Given the description of an element on the screen output the (x, y) to click on. 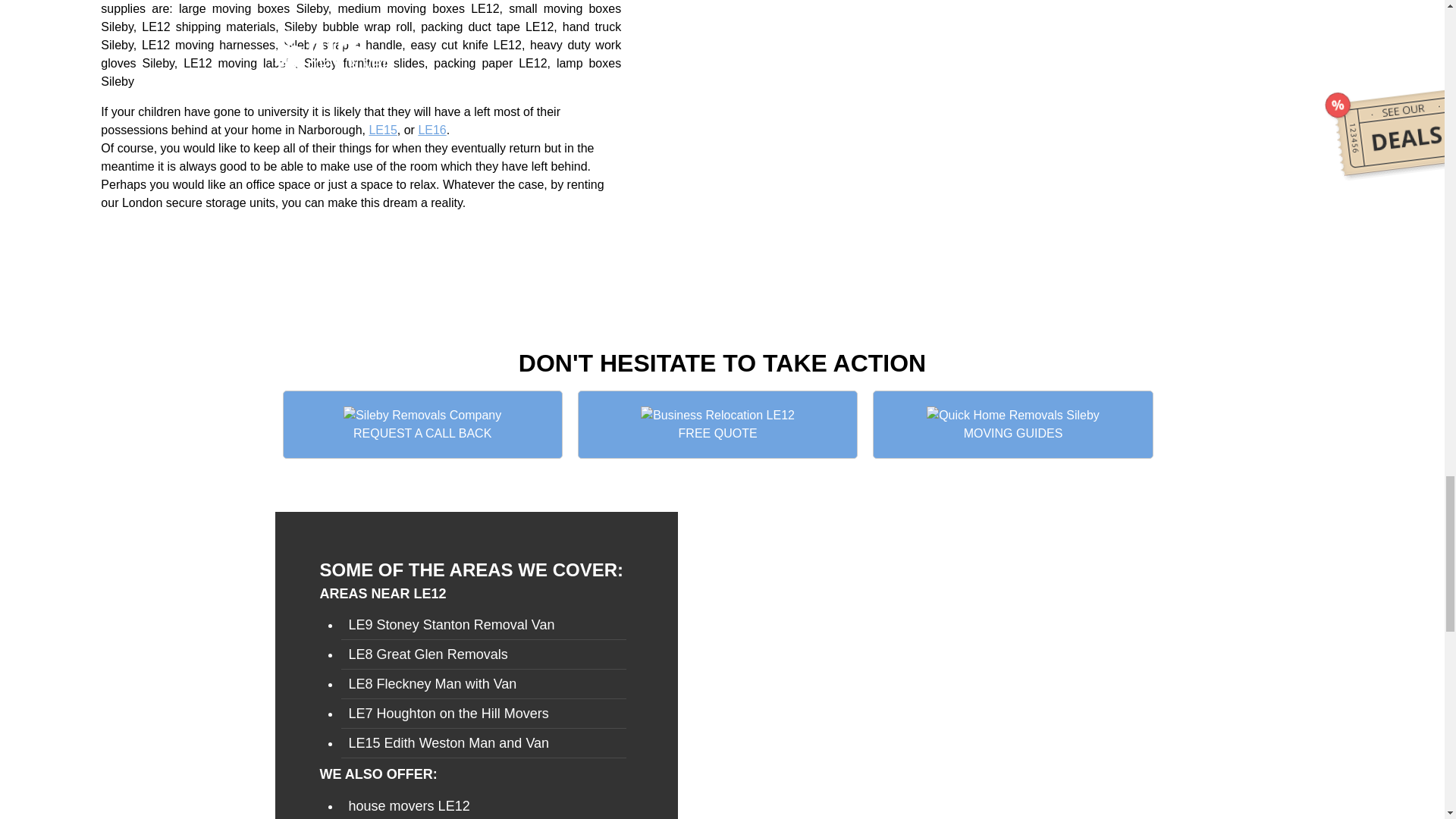
LE15 (382, 129)
Moving giudes (1012, 424)
Request a call (422, 424)
Free quote (717, 424)
